Given the description of an element on the screen output the (x, y) to click on. 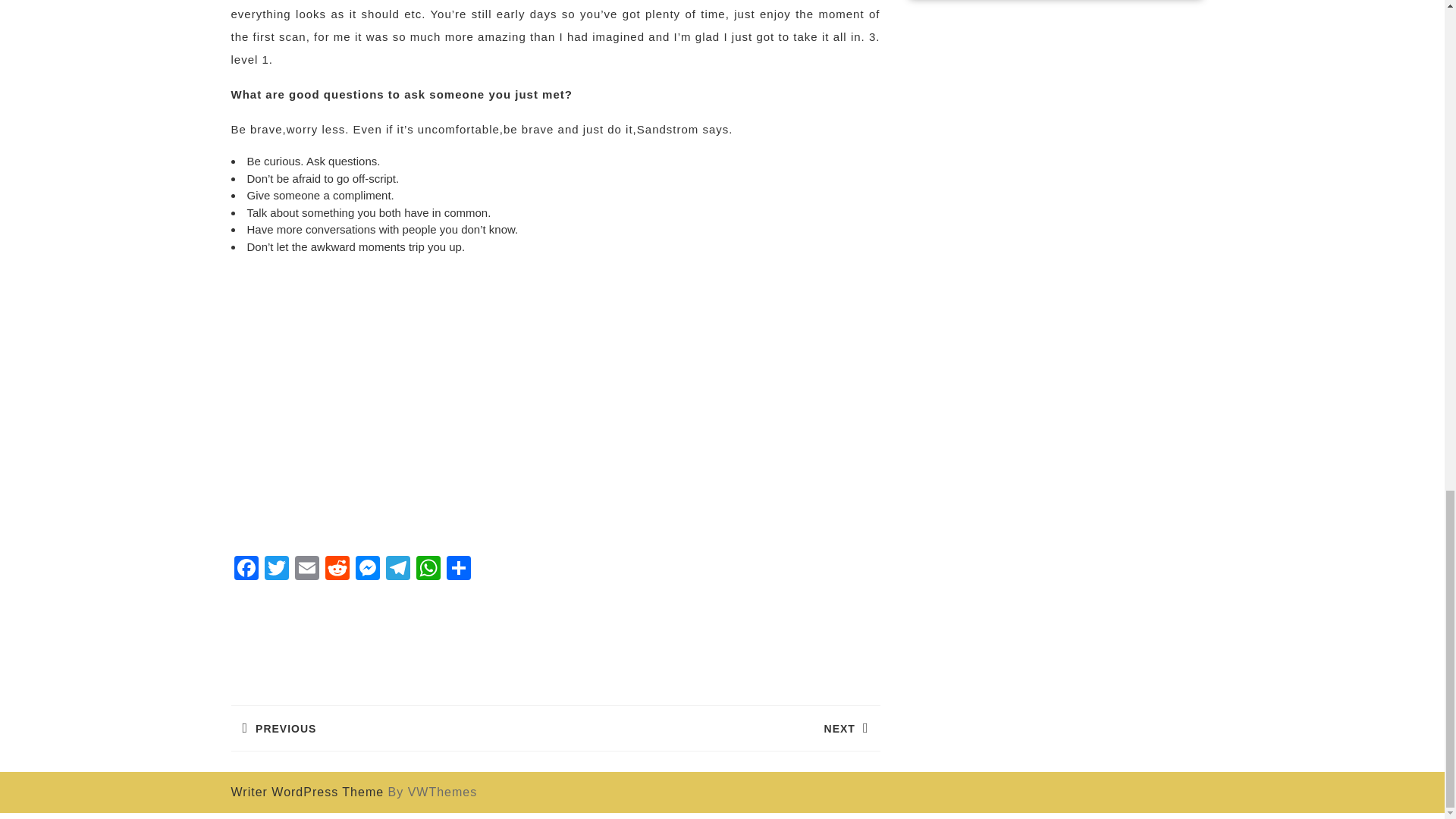
WhatsApp (427, 569)
Share (457, 569)
WhatsApp (427, 569)
Telegram (396, 569)
Twitter (275, 569)
Facebook (245, 569)
Telegram (396, 569)
Facebook (245, 569)
Reddit (336, 569)
Messenger (366, 569)
Reddit (336, 569)
Email (306, 569)
Twitter (716, 728)
Email (275, 569)
